Given the description of an element on the screen output the (x, y) to click on. 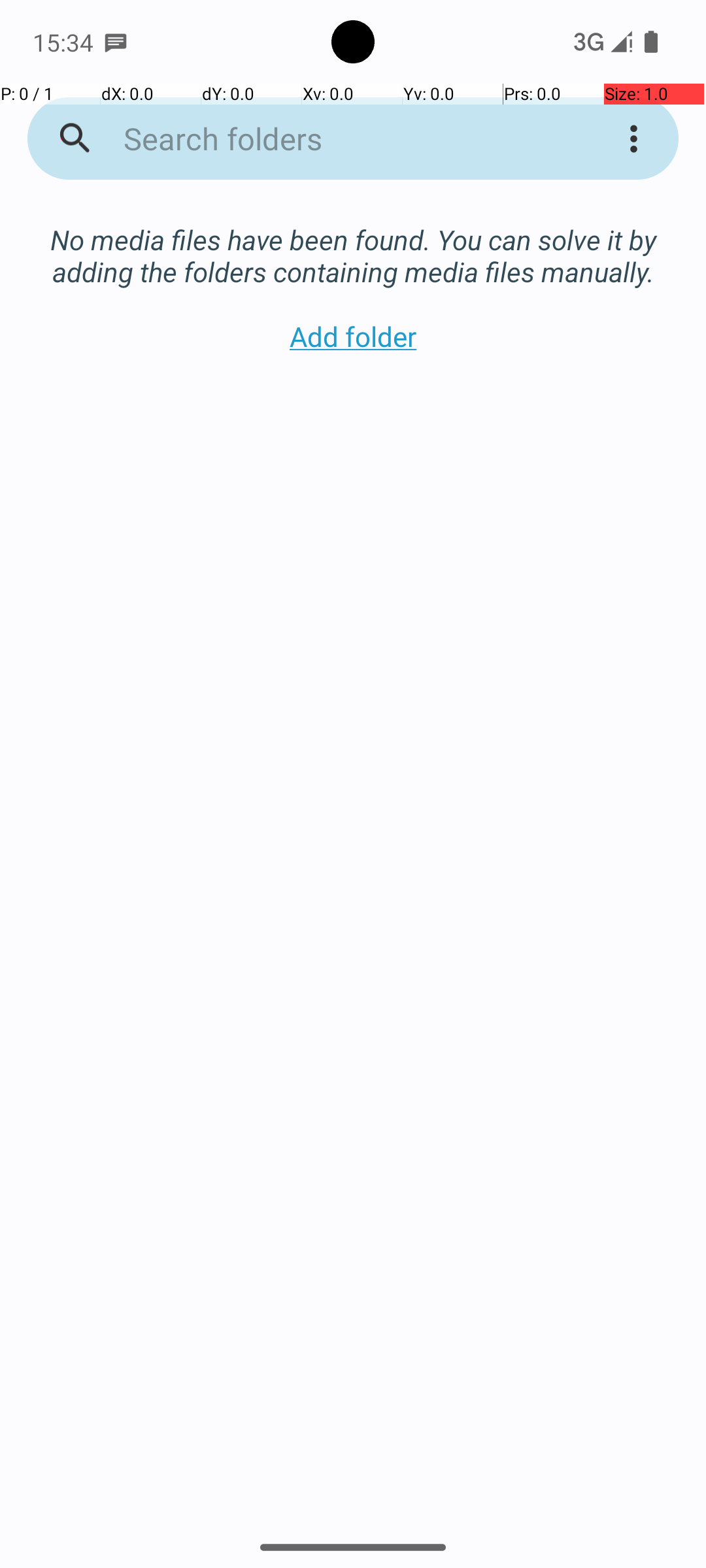
No media files have been found. You can solve it by adding the folders containing media files manually. Element type: android.widget.TextView (353, 241)
Add folder Element type: android.widget.TextView (352, 336)
Search folders Element type: android.widget.EditText (335, 138)
